Given the description of an element on the screen output the (x, y) to click on. 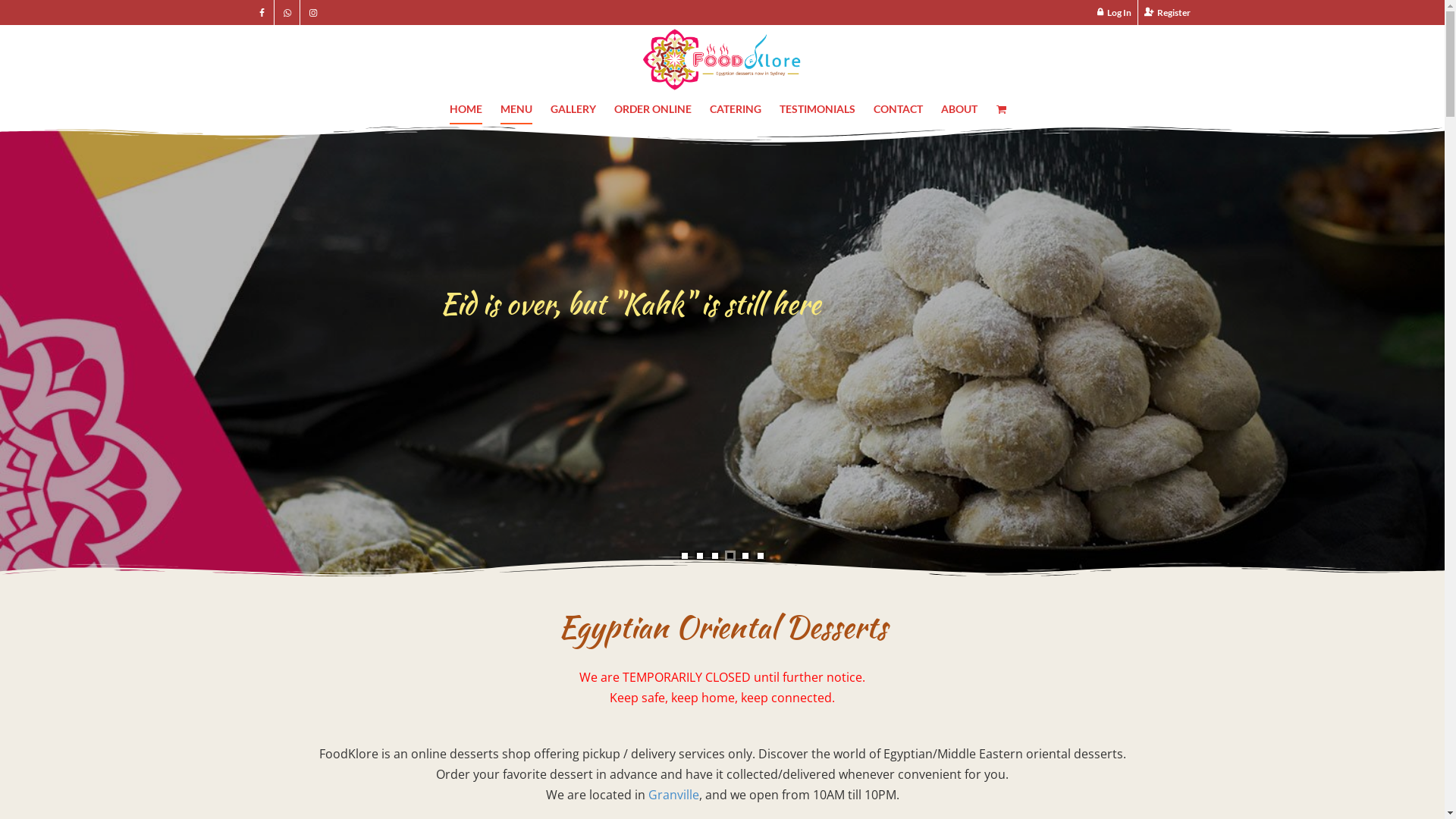
View cart Element type: hover (1000, 109)
CATERING Element type: text (735, 109)
MENU Element type: text (516, 109)
FoodKlore Element type: hover (721, 59)
TESTIMONIALS Element type: text (817, 109)
ABOUT Element type: text (959, 109)
Log In Element type: text (1113, 12)
Granville Element type: text (672, 794)
Register Element type: text (1166, 12)
CONTACT Element type: text (897, 109)
HOME Element type: text (465, 109)
GALLERY Element type: text (573, 109)
ORDER ONLINE Element type: text (652, 109)
